Given the description of an element on the screen output the (x, y) to click on. 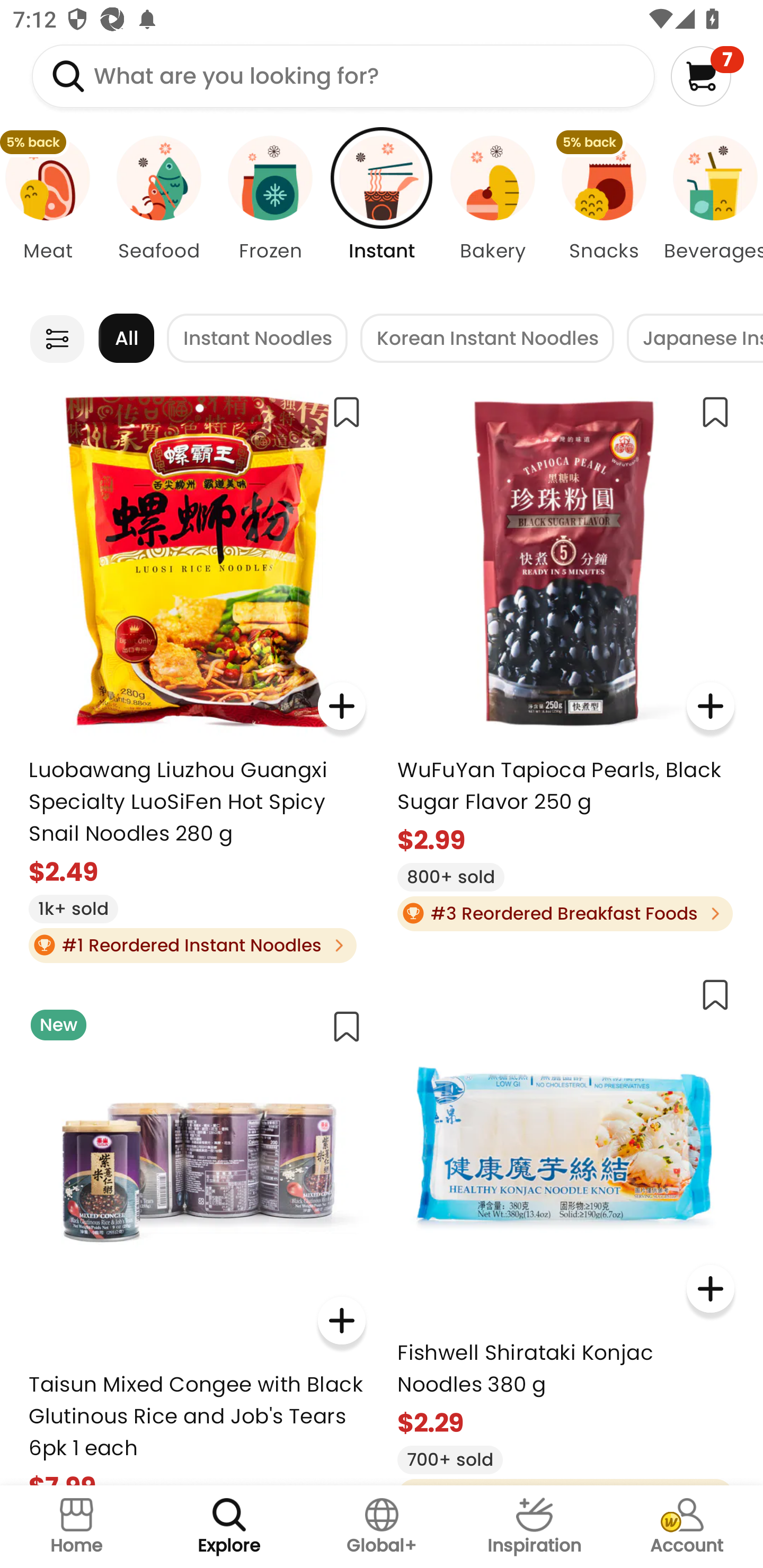
What are you looking for? (343, 75)
7 (706, 75)
5% back Meat (51, 214)
Seafood (158, 214)
Frozen (269, 214)
Instant (381, 214)
Bakery (492, 214)
5% back Snacks (603, 214)
Beverages (711, 214)
All (126, 337)
Instant Noodles (257, 337)
Korean Instant Noodles (487, 337)
Japanese Instant Noodles (695, 337)
Home (76, 1526)
Explore (228, 1526)
Global+ (381, 1526)
Inspiration (533, 1526)
Account (686, 1526)
